Given the description of an element on the screen output the (x, y) to click on. 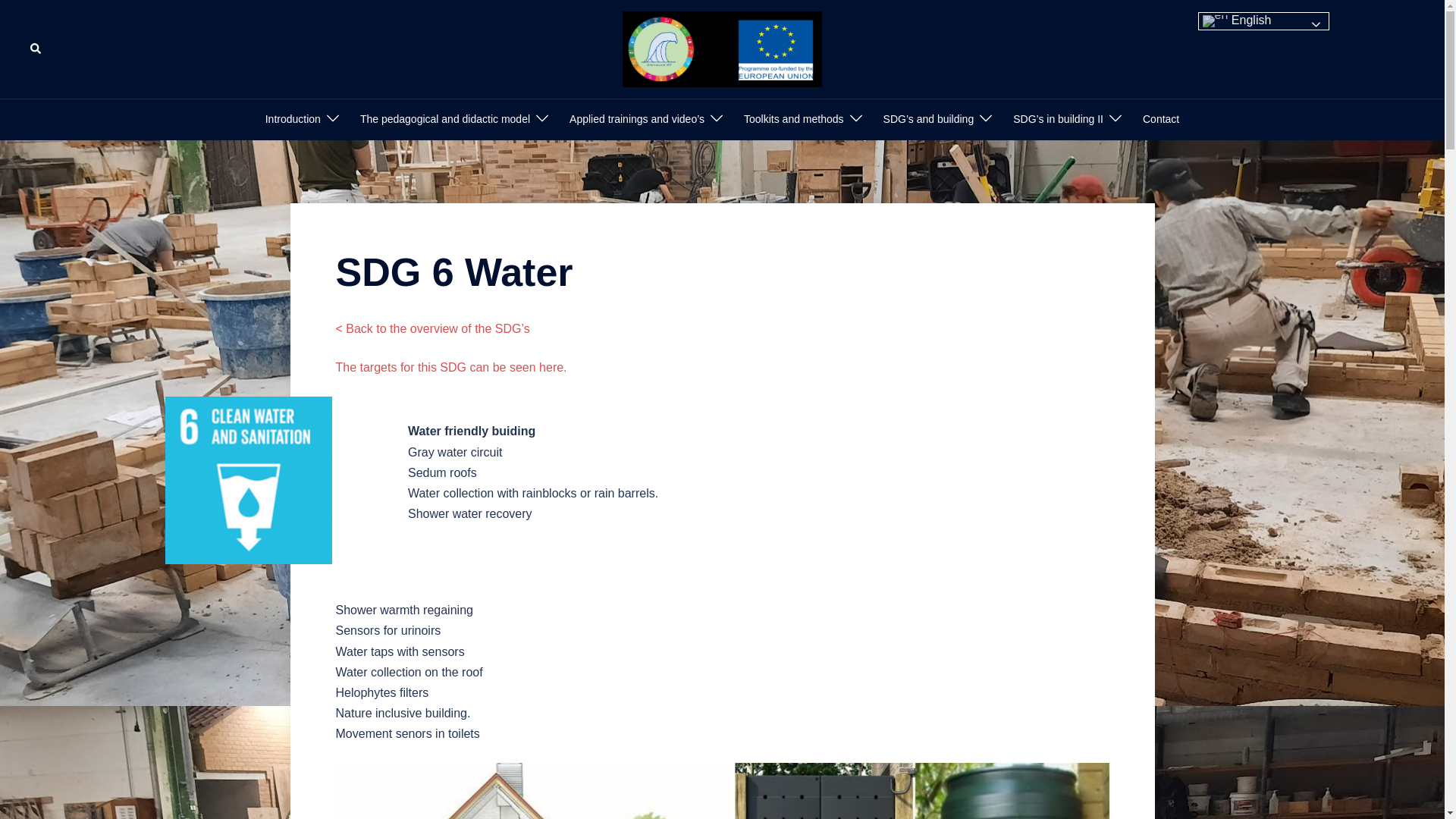
Introduction (292, 119)
Green wave in VET (722, 47)
Toolkits and methods (794, 119)
The pedagogical and didactic model (444, 119)
Search (36, 49)
